Given the description of an element on the screen output the (x, y) to click on. 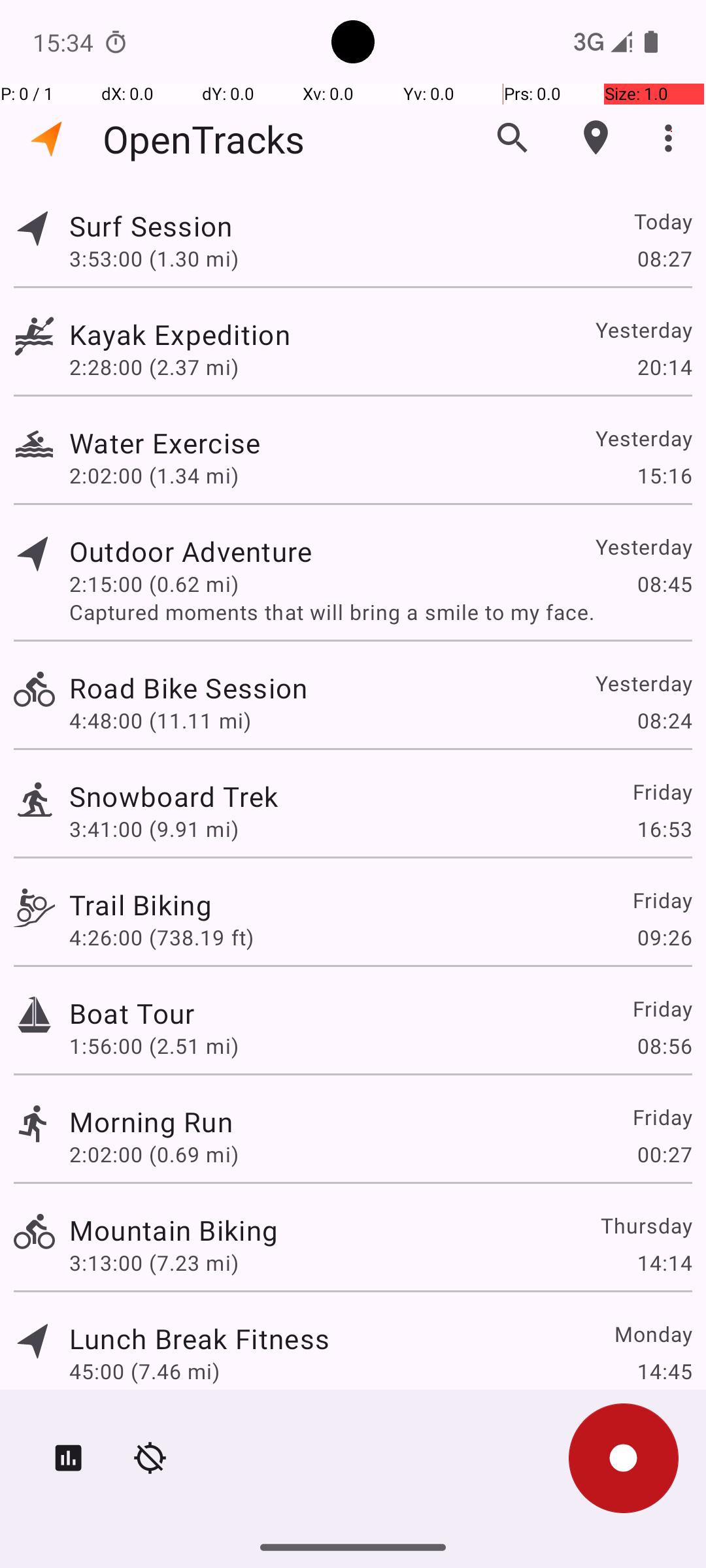
Surf Session Element type: android.widget.TextView (150, 225)
3:53:00 (1.30 mi) Element type: android.widget.TextView (153, 258)
08:27 Element type: android.widget.TextView (664, 258)
Kayak Expedition Element type: android.widget.TextView (179, 333)
2:28:00 (2.37 mi) Element type: android.widget.TextView (153, 366)
20:14 Element type: android.widget.TextView (664, 366)
2:02:00 (1.34 mi) Element type: android.widget.TextView (153, 475)
15:16 Element type: android.widget.TextView (664, 475)
2:15:00 (0.62 mi) Element type: android.widget.TextView (153, 583)
08:45 Element type: android.widget.TextView (664, 583)
Captured moments that will bring a smile to my face. Element type: android.widget.TextView (380, 611)
Road Bike Session Element type: android.widget.TextView (187, 687)
4:48:00 (11.11 mi) Element type: android.widget.TextView (159, 720)
08:24 Element type: android.widget.TextView (664, 720)
Snowboard Trek Element type: android.widget.TextView (173, 795)
3:41:00 (9.91 mi) Element type: android.widget.TextView (153, 828)
16:53 Element type: android.widget.TextView (664, 828)
Trail Biking Element type: android.widget.TextView (140, 904)
4:26:00 (738.19 ft) Element type: android.widget.TextView (161, 937)
09:26 Element type: android.widget.TextView (664, 937)
1:56:00 (2.51 mi) Element type: android.widget.TextView (153, 1045)
08:56 Element type: android.widget.TextView (664, 1045)
Morning Run Element type: android.widget.TextView (150, 1121)
2:02:00 (0.69 mi) Element type: android.widget.TextView (153, 1154)
00:27 Element type: android.widget.TextView (664, 1154)
Mountain Biking Element type: android.widget.TextView (173, 1229)
3:13:00 (7.23 mi) Element type: android.widget.TextView (153, 1262)
14:14 Element type: android.widget.TextView (664, 1262)
Lunch Break Fitness Element type: android.widget.TextView (199, 1337)
45:00 (7.46 mi) Element type: android.widget.TextView (144, 1370)
14:45 Element type: android.widget.TextView (664, 1370)
Stepped outside my comfort zone. Element type: android.widget.TextView (380, 1399)
